Given the description of an element on the screen output the (x, y) to click on. 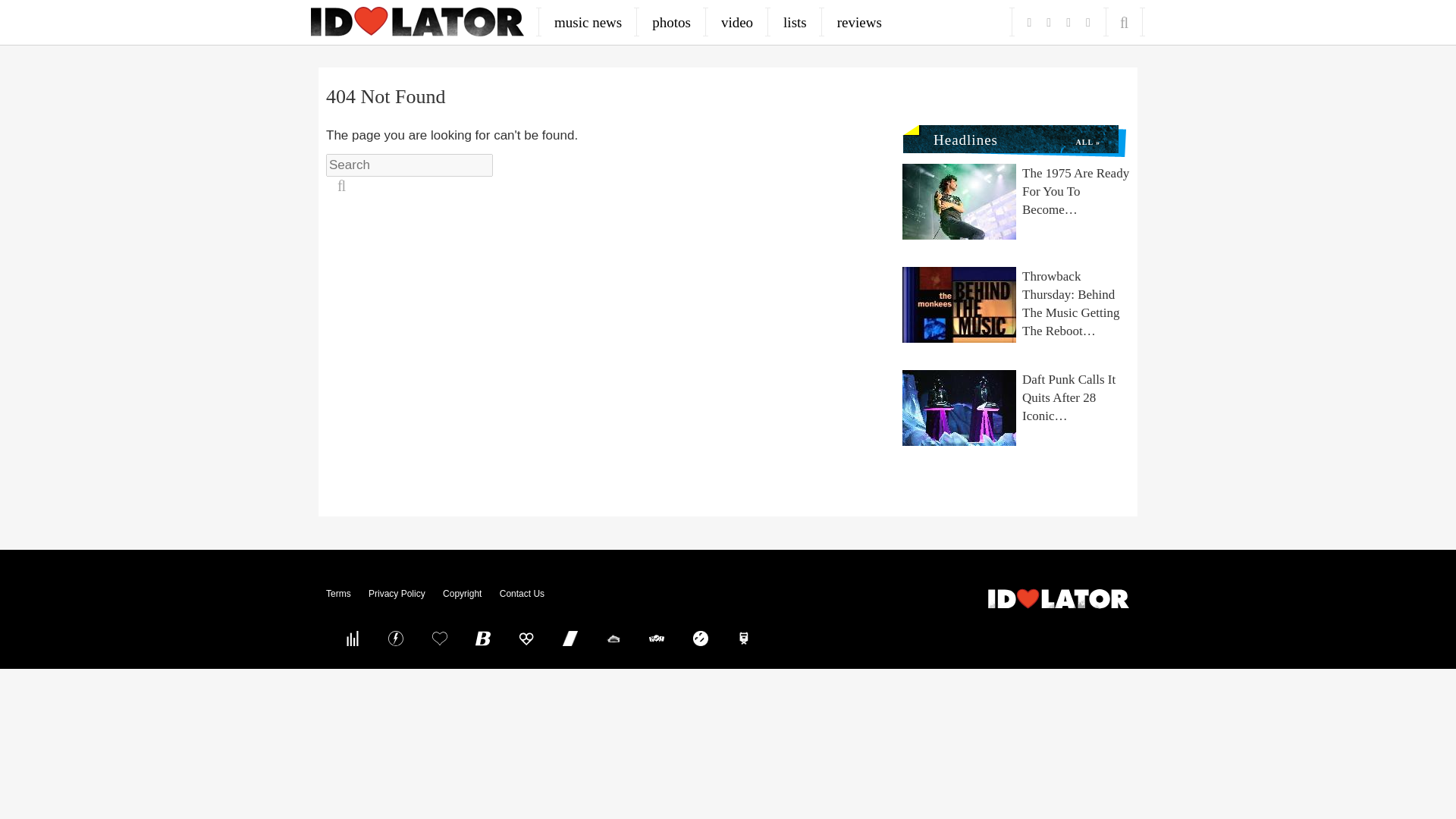
Daily Funny (699, 638)
Taco Relish (612, 638)
Pure Volume (351, 638)
photos (671, 22)
Headlines (958, 136)
reviews (859, 22)
Quizscape (656, 638)
Trend Chaser (570, 638)
BleacherBreaker (483, 638)
music news (587, 22)
video (737, 22)
lists (795, 22)
Post Fun (439, 638)
Contact Us (521, 593)
Terms (338, 593)
